Given the description of an element on the screen output the (x, y) to click on. 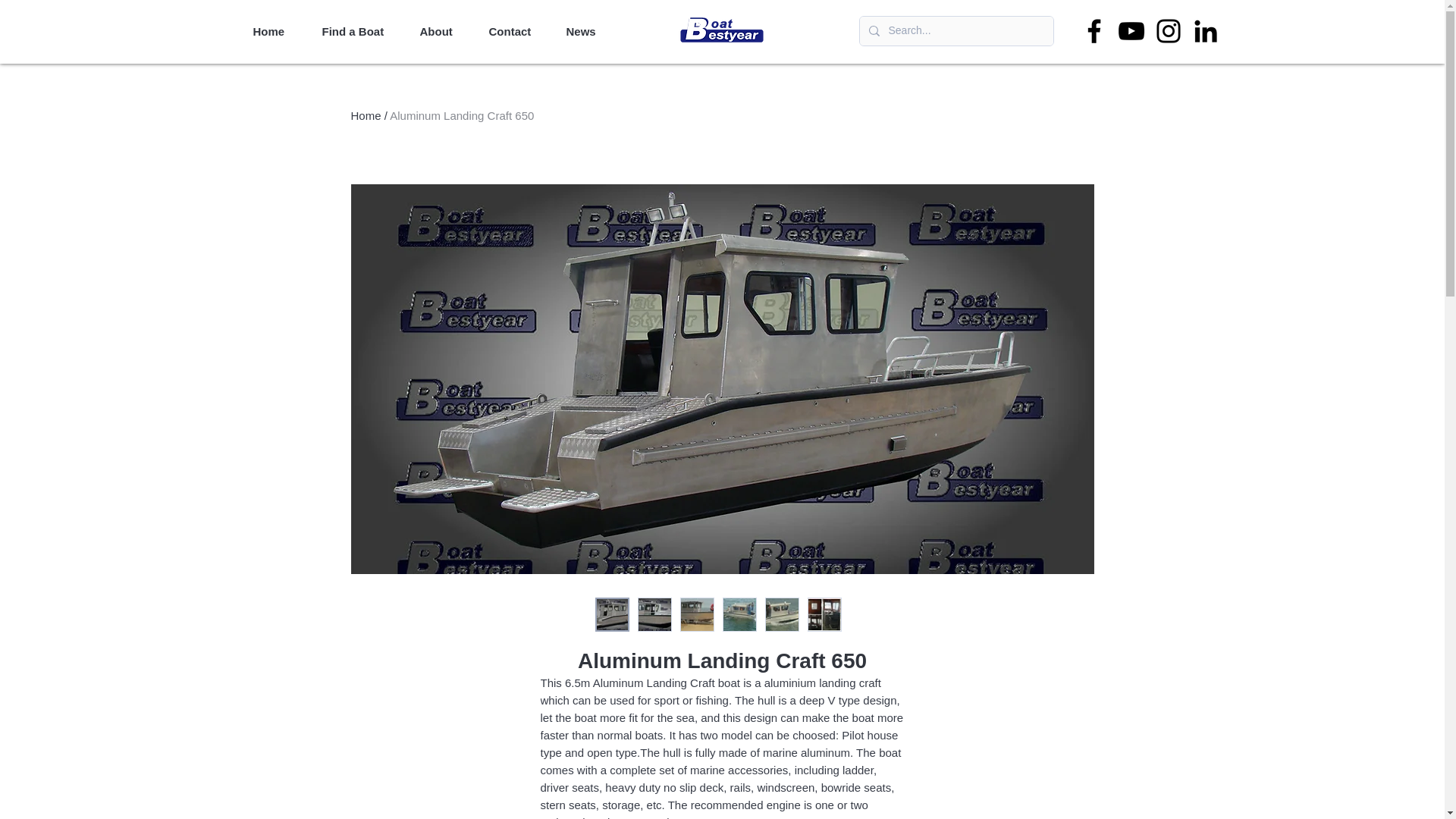
Home (275, 31)
Contact (515, 31)
News (588, 31)
About (442, 31)
Home (365, 115)
Aluminum Landing Craft 650 (462, 115)
